Given the description of an element on the screen output the (x, y) to click on. 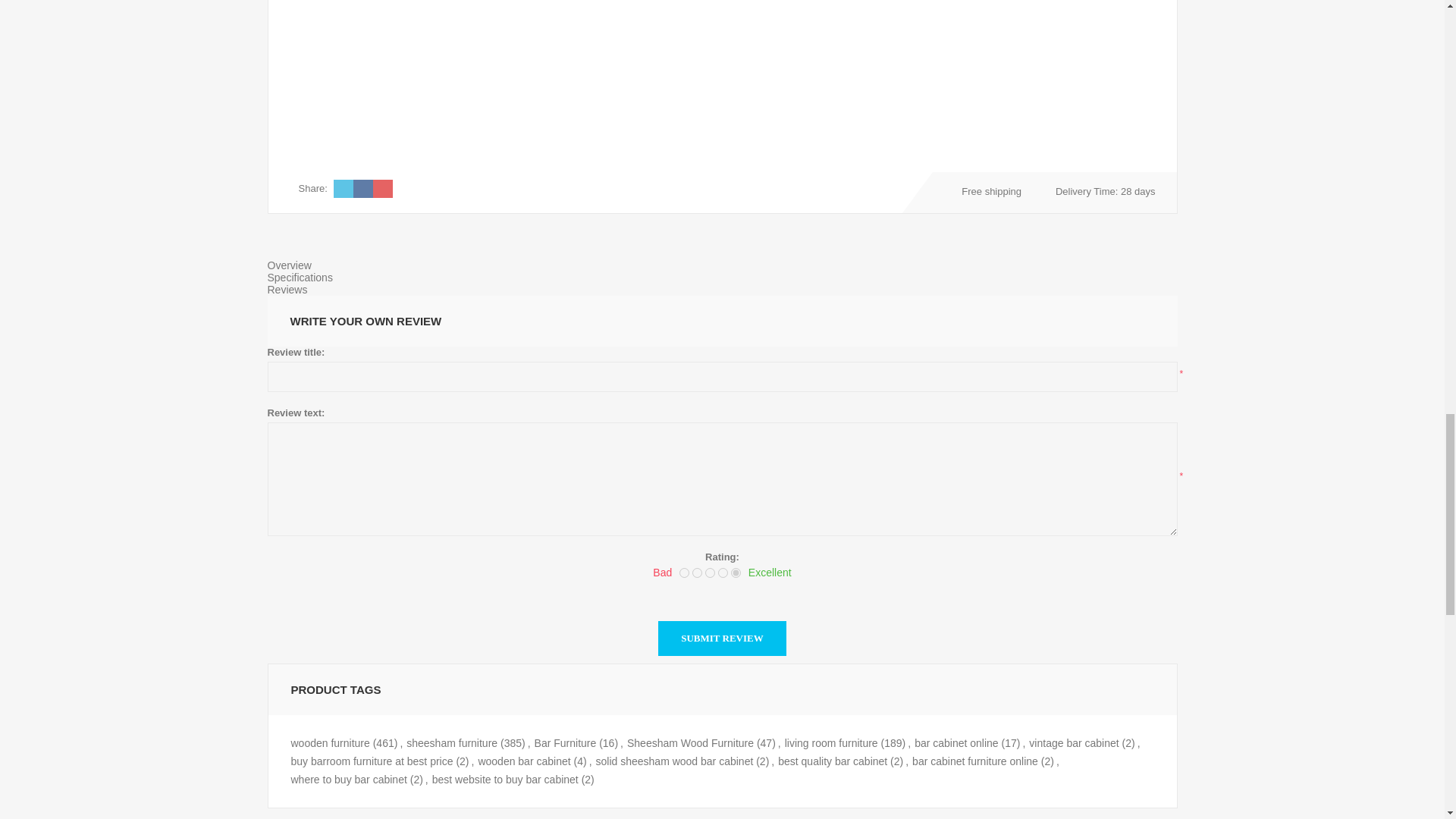
2 (697, 573)
Submit review (722, 638)
1 (683, 573)
5 (735, 573)
4 (722, 573)
3 (709, 573)
